Given the description of an element on the screen output the (x, y) to click on. 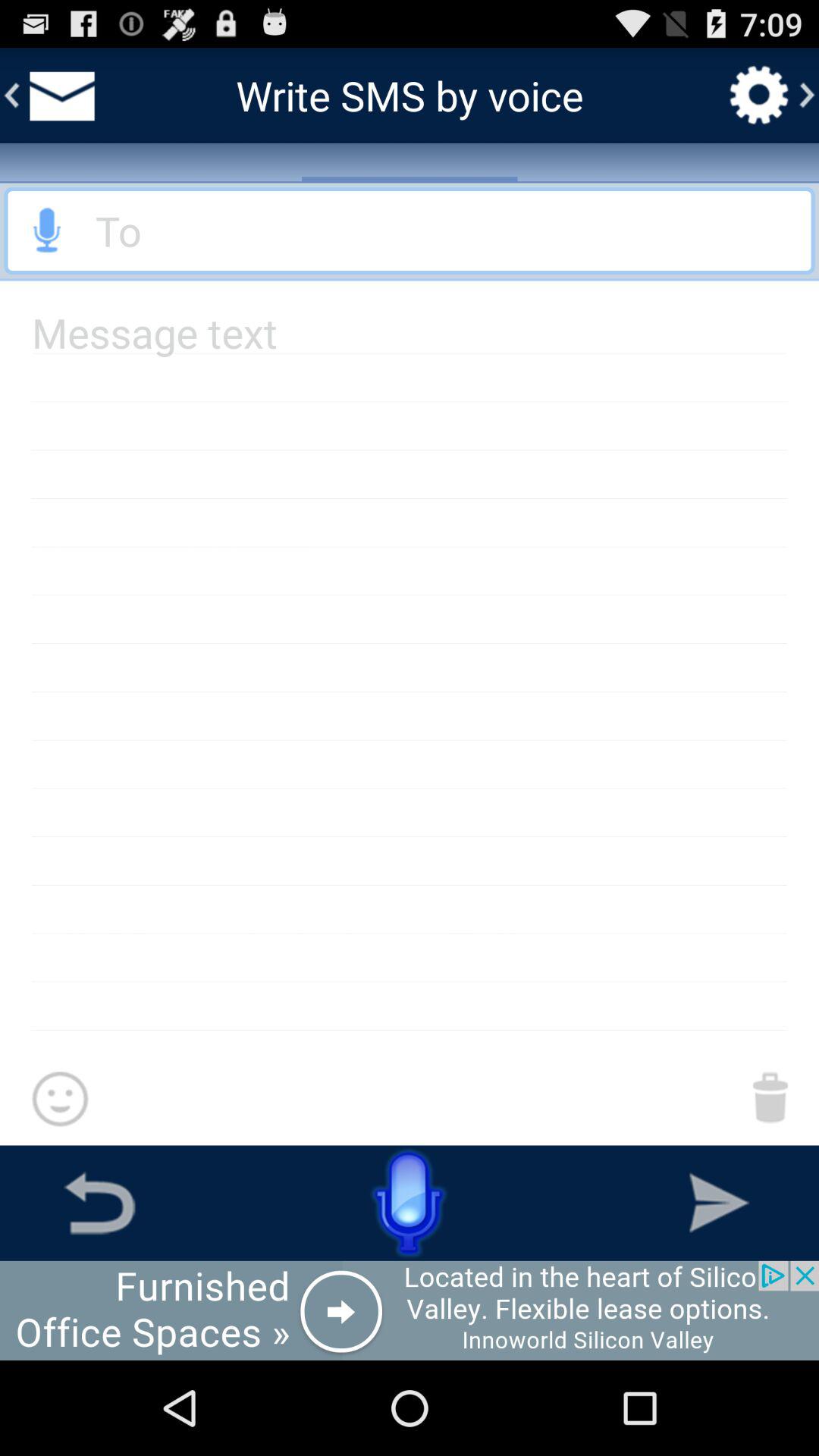
to view add (409, 1310)
